Given the description of an element on the screen output the (x, y) to click on. 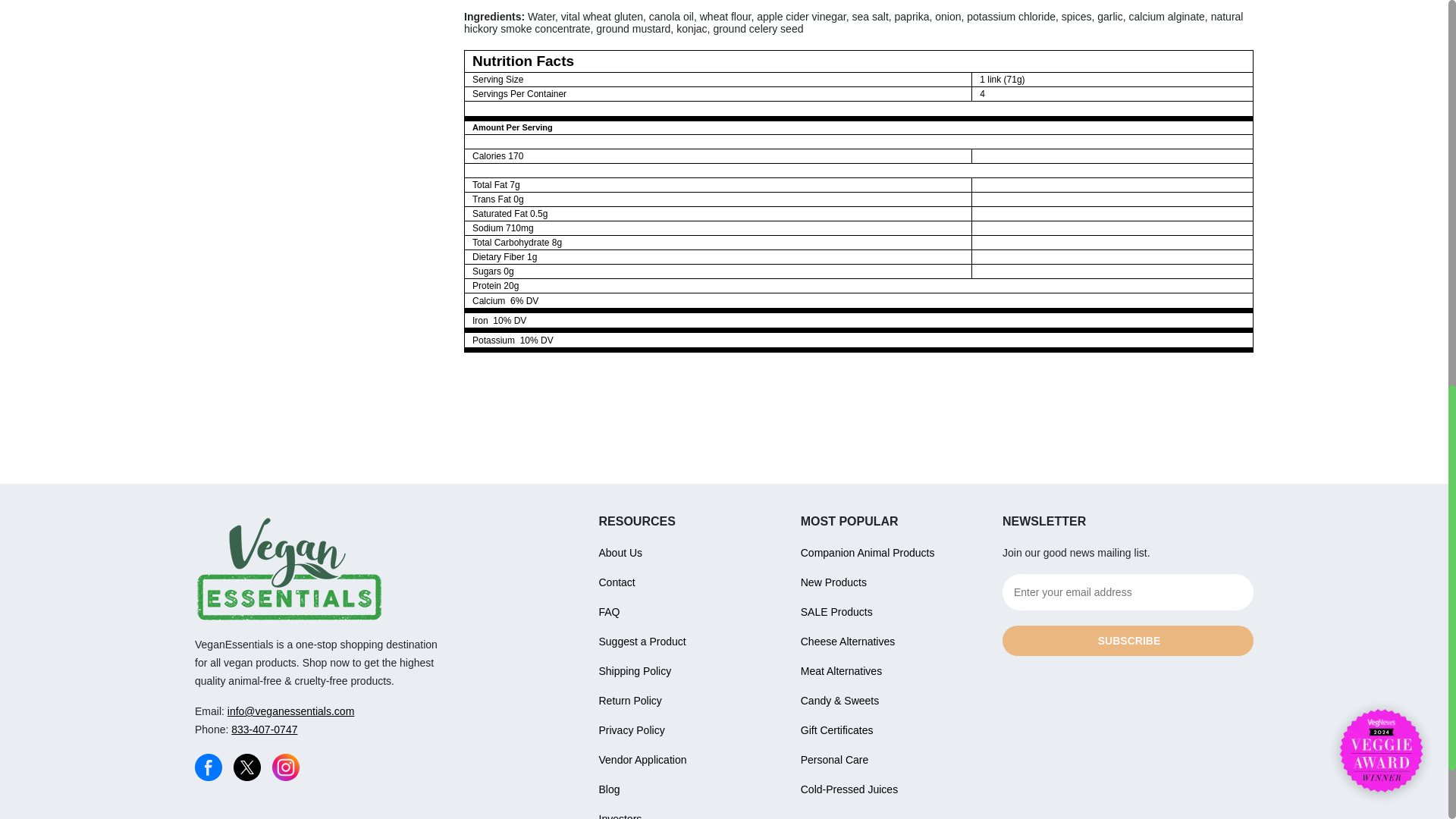
SUBSCRIBE (1128, 640)
